Given the description of an element on the screen output the (x, y) to click on. 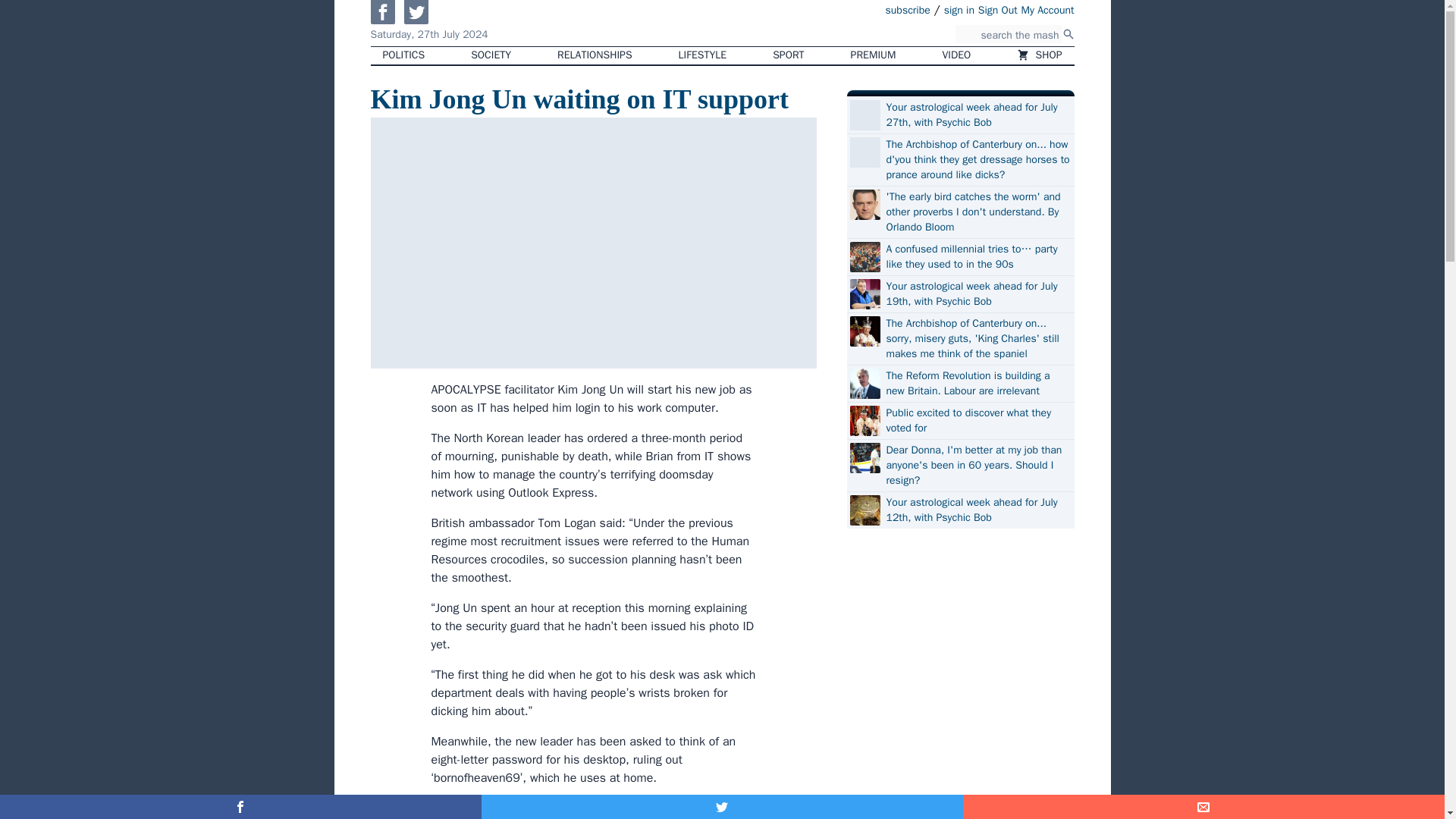
Your astrological week ahead for July 19th, with Psychic Bob (977, 294)
POLITICS (402, 55)
PREMIUM (873, 55)
LIFESTYLE (702, 55)
Search (1067, 33)
SPORT (787, 55)
My Account (1048, 9)
subscribe (907, 9)
sign in (958, 9)
SHOP (1039, 55)
RELATIONSHIPS (593, 55)
Your astrological week ahead for July 27th, with Psychic Bob (977, 114)
